Given the description of an element on the screen output the (x, y) to click on. 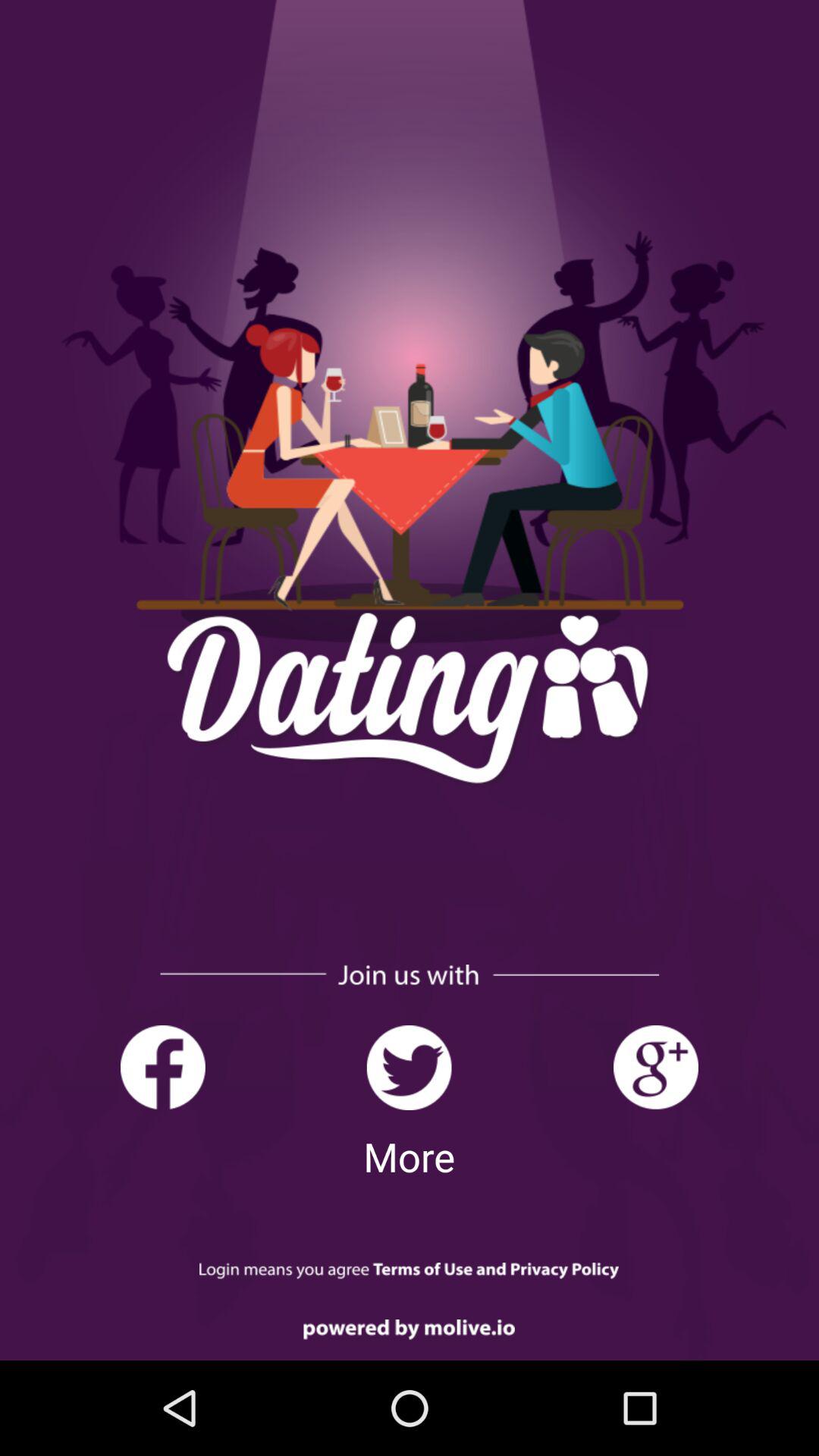
visit twitter page (409, 1067)
